Given the description of an element on the screen output the (x, y) to click on. 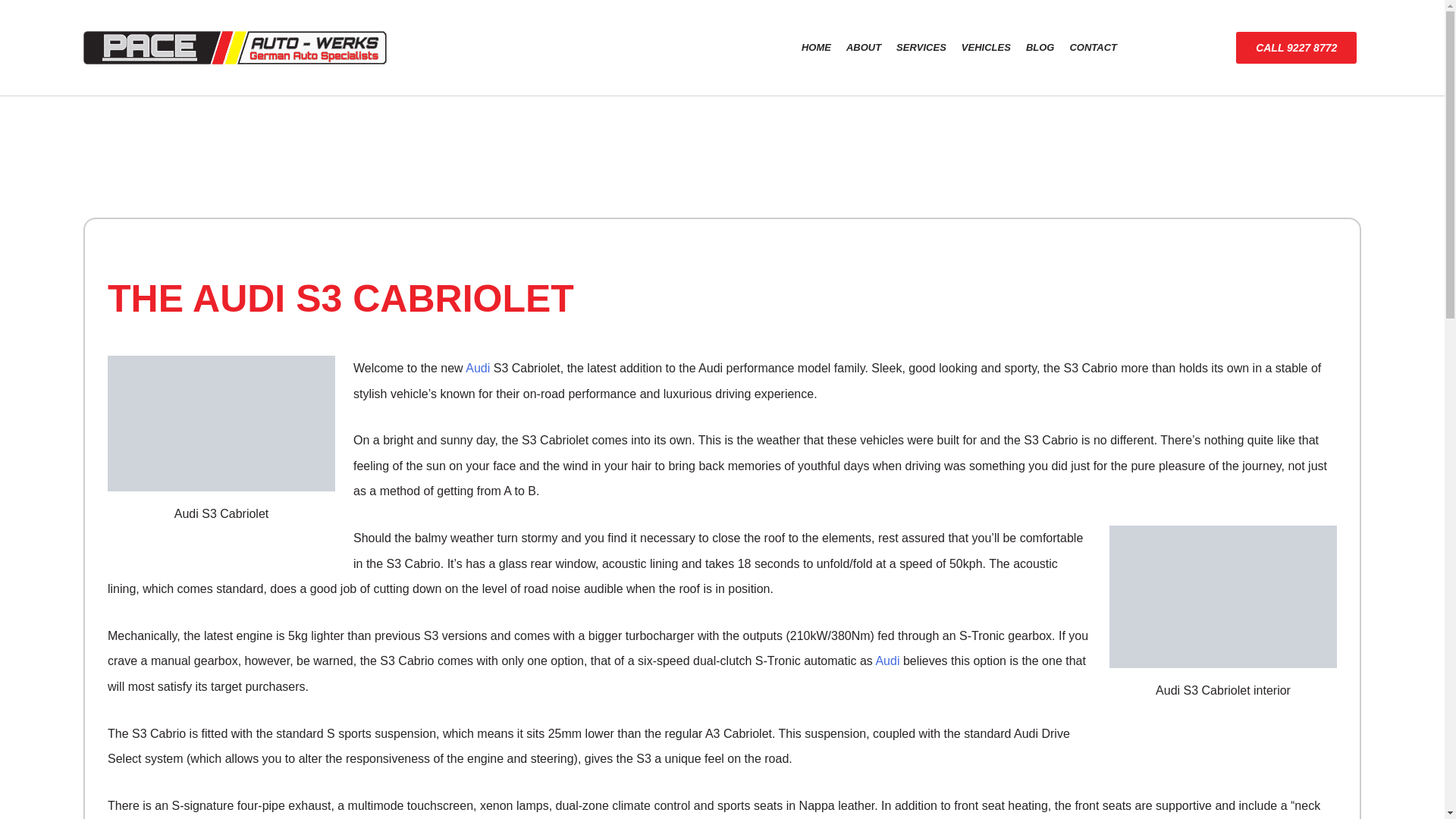
CONTACT (1092, 47)
HOME (815, 47)
VEHICLES (985, 47)
ABOUT (863, 47)
SERVICES (920, 47)
BLOG (1039, 47)
